Given the description of an element on the screen output the (x, y) to click on. 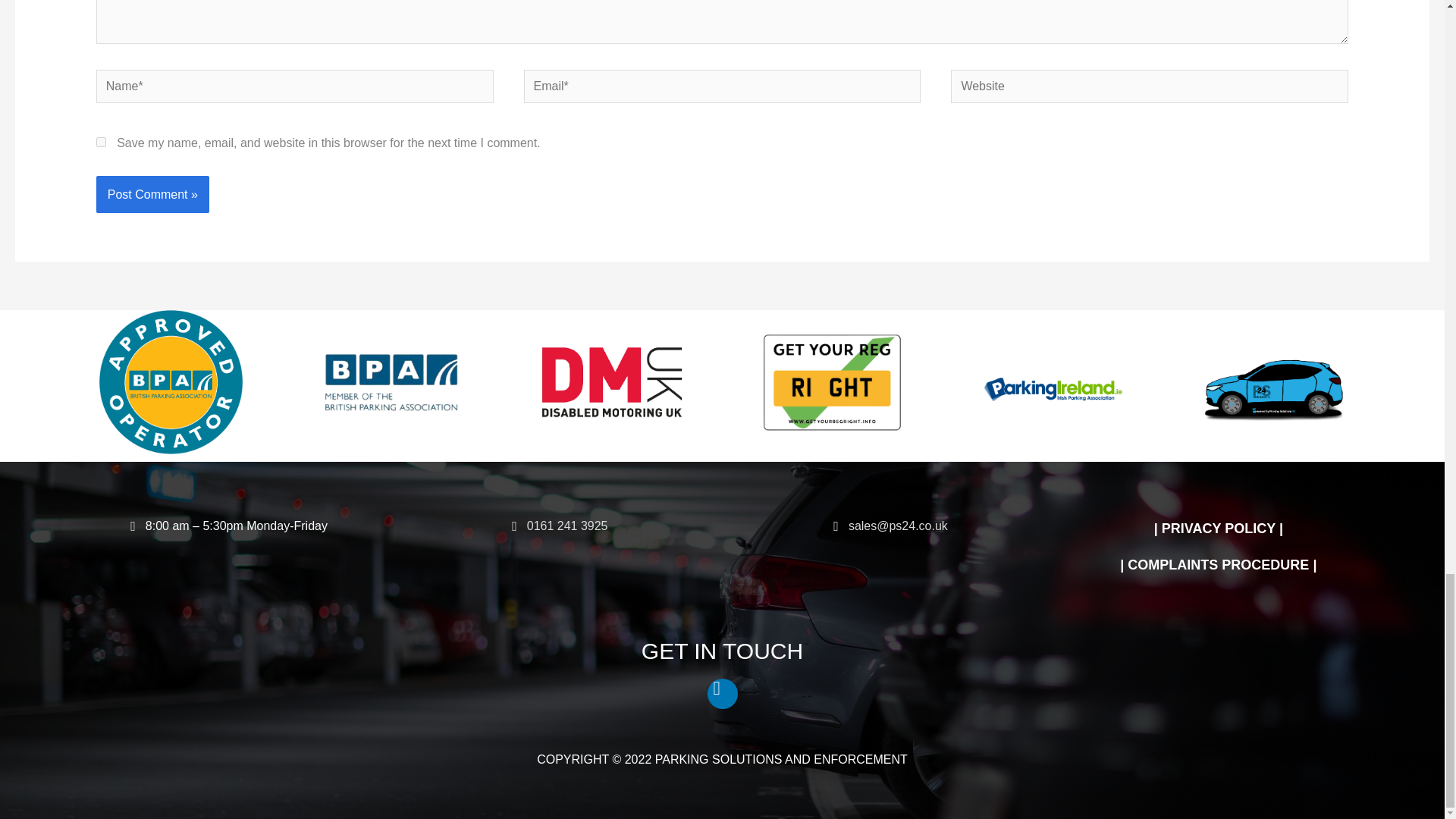
0161 241 3925 (567, 526)
yes (101, 142)
